Given the description of an element on the screen output the (x, y) to click on. 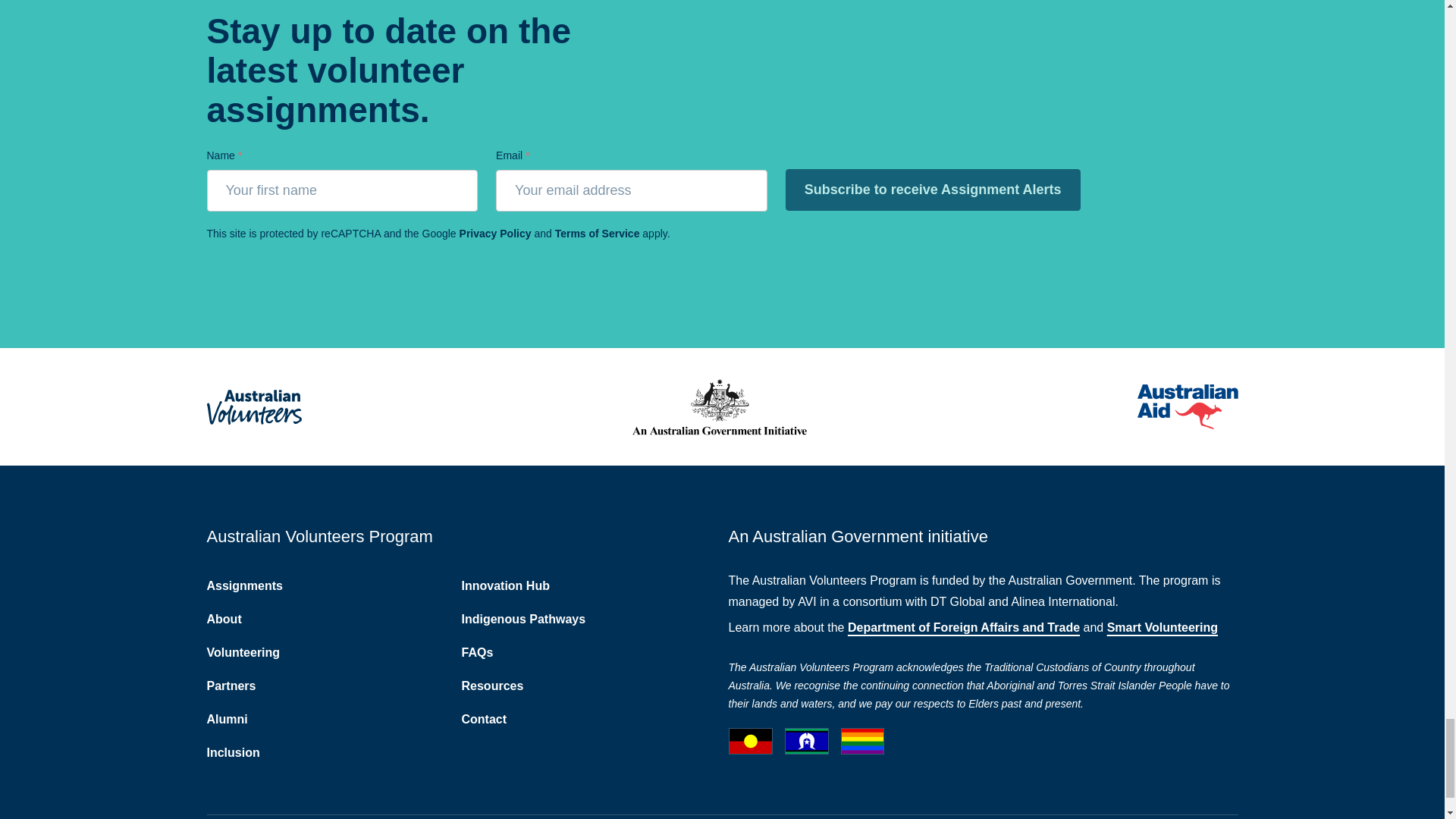
Privacy Policy (495, 233)
Terms of Service (597, 233)
Subscribe to receive Assignment Alerts (933, 189)
